Given the description of an element on the screen output the (x, y) to click on. 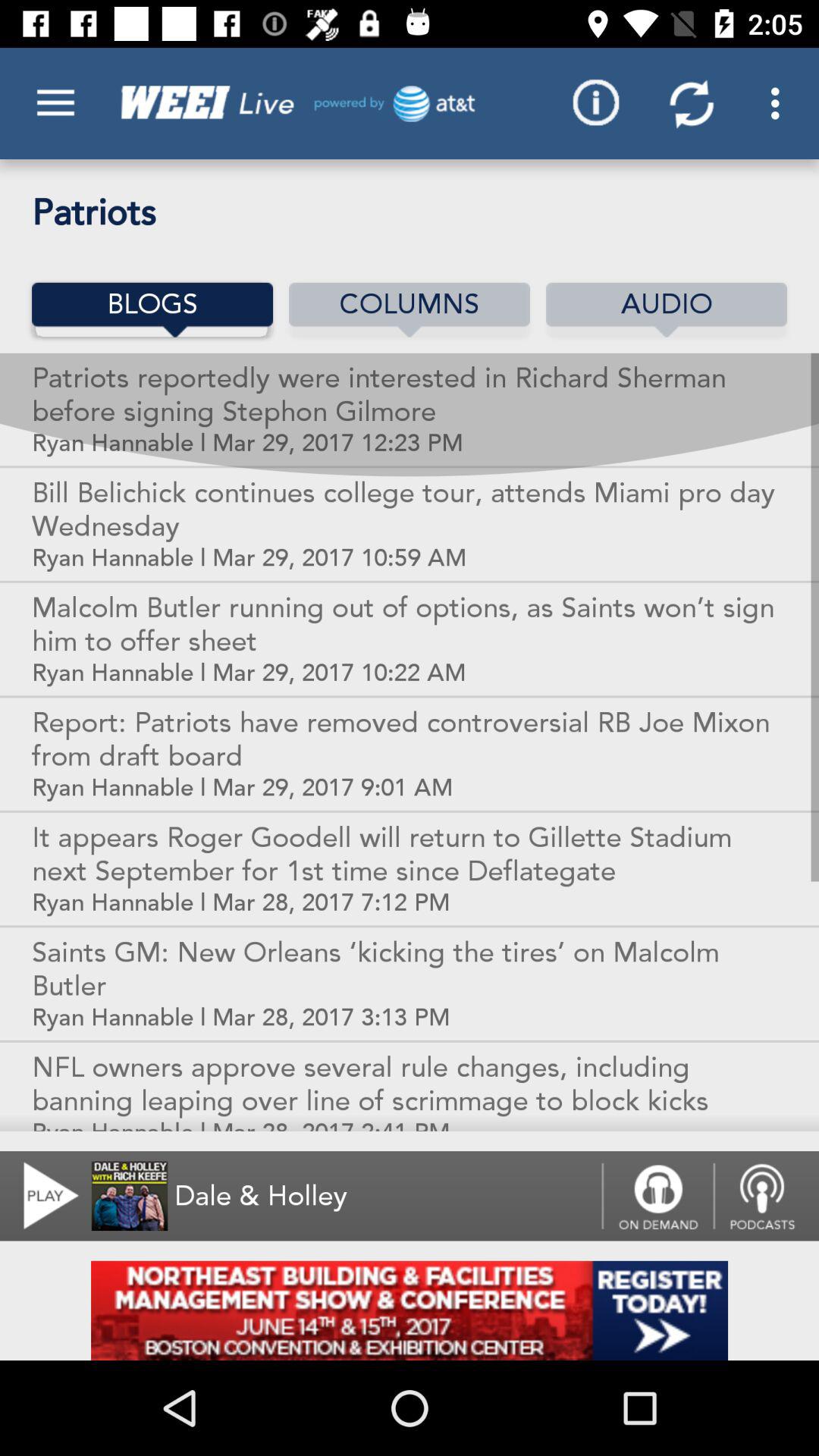
click on the header text (293, 103)
select the last 3 dots button (779, 103)
click on icon which is right to on demand (766, 1196)
